Given the description of an element on the screen output the (x, y) to click on. 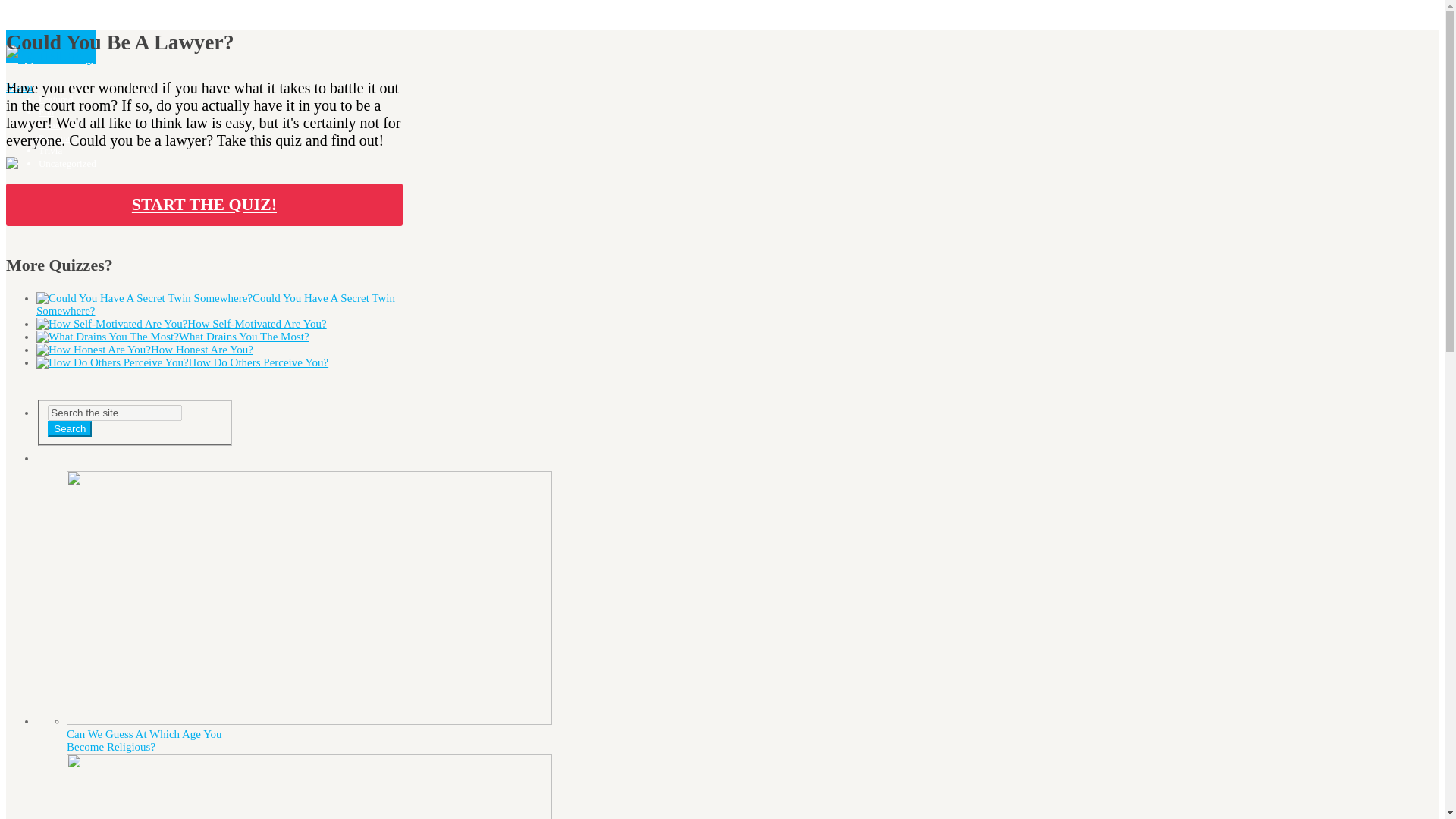
Uncategorized (67, 163)
How Honest Are You? (202, 349)
Featured (55, 98)
Menu (18, 87)
What Kind of Vacation Do You Need? (149, 786)
Could You Have A Secret Twin Somewhere? (215, 303)
Can We Guess At Which Age You Become Religious? (144, 740)
Name (50, 124)
Search (69, 428)
Can We Guess At Which Age You Become Religious? (144, 740)
